Given the description of an element on the screen output the (x, y) to click on. 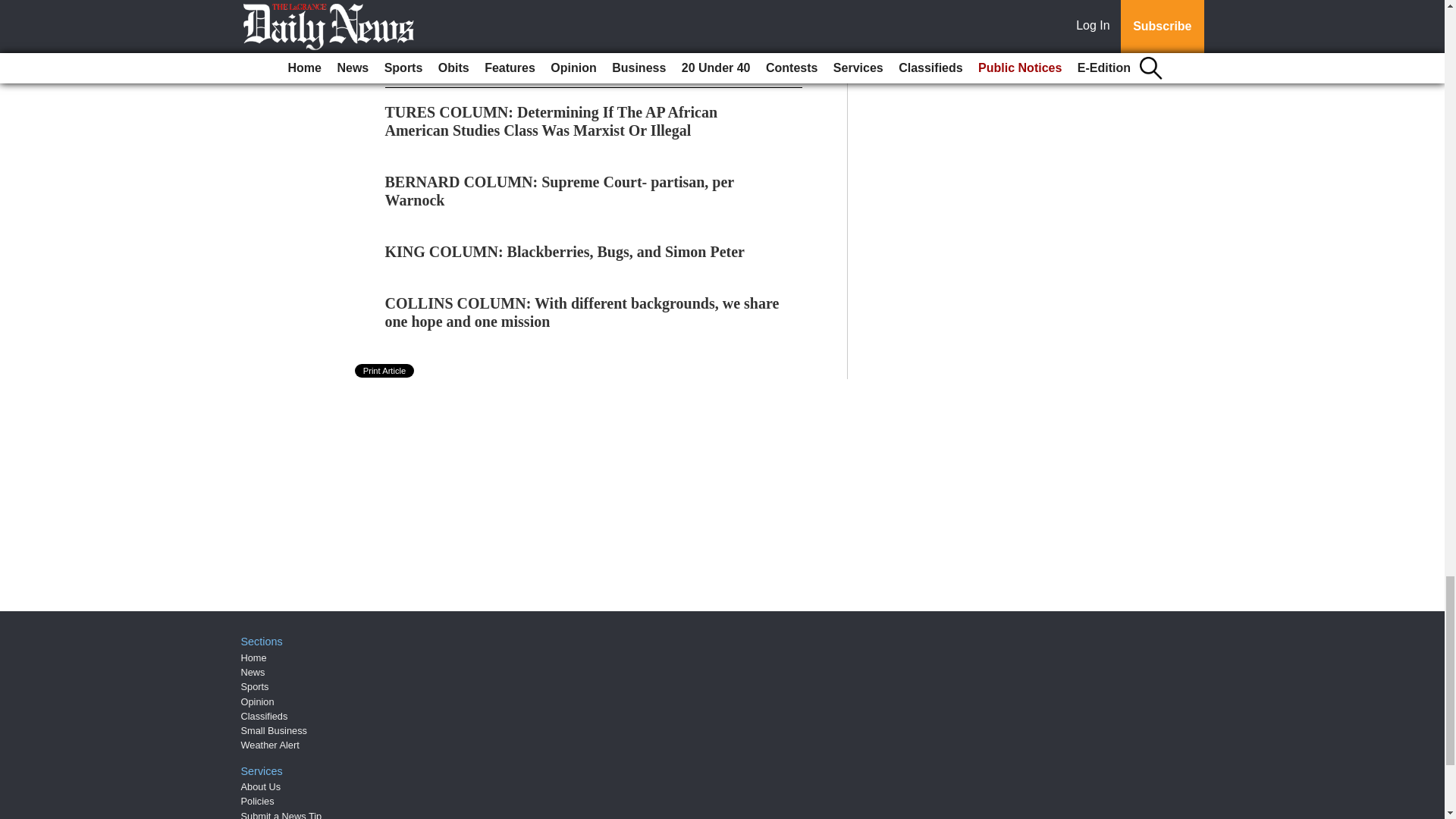
KING COLUMN: Blackberries, Bugs, and Simon Peter (564, 251)
BERNARD COLUMN: Supreme Court- partisan, per Warnock (559, 190)
Print Article (384, 370)
KING COLUMN: Blackberries, Bugs, and Simon Peter (564, 251)
News (252, 672)
Home (253, 657)
